Given the description of an element on the screen output the (x, y) to click on. 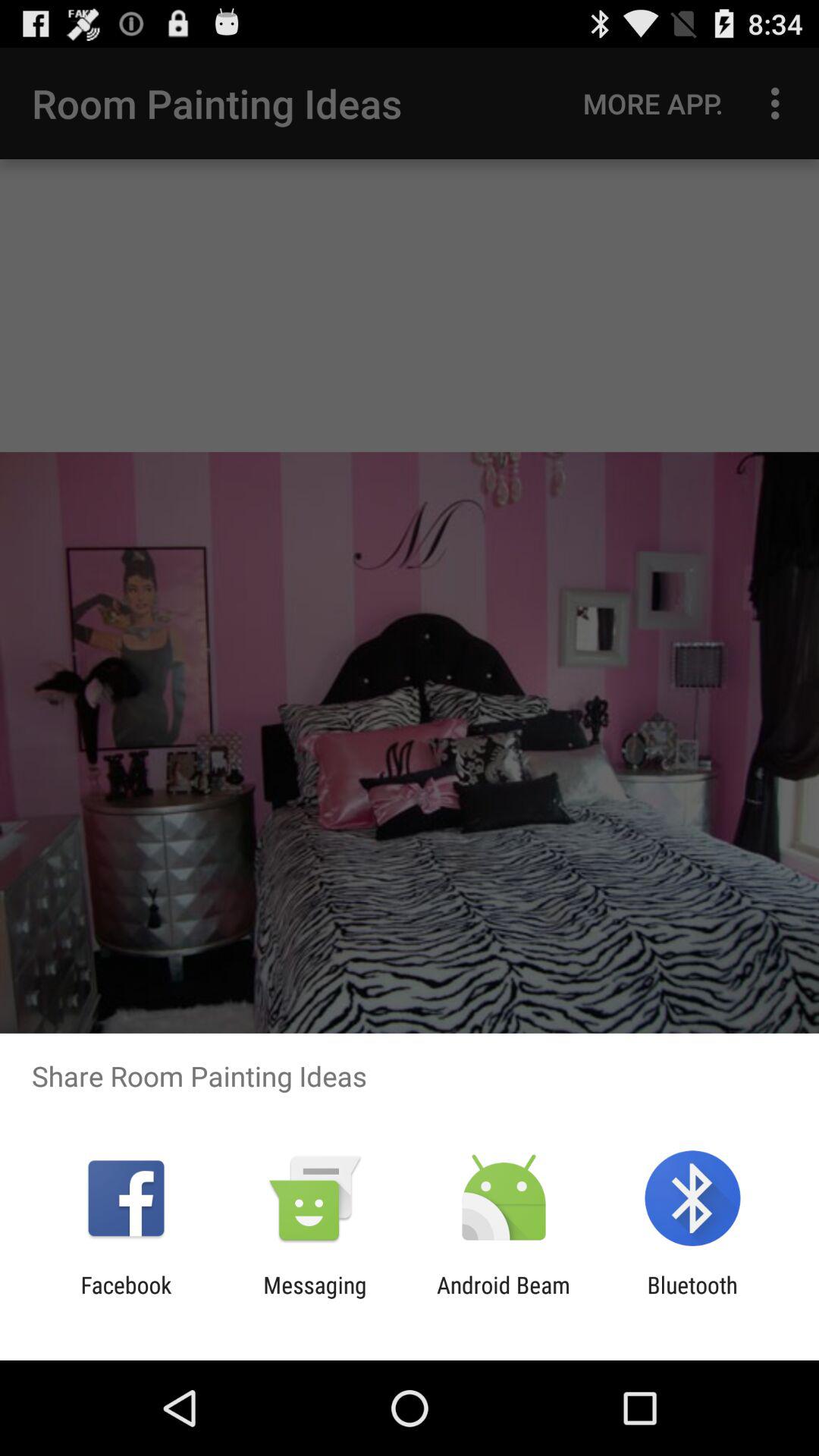
open the icon to the left of bluetooth app (503, 1298)
